Given the description of an element on the screen output the (x, y) to click on. 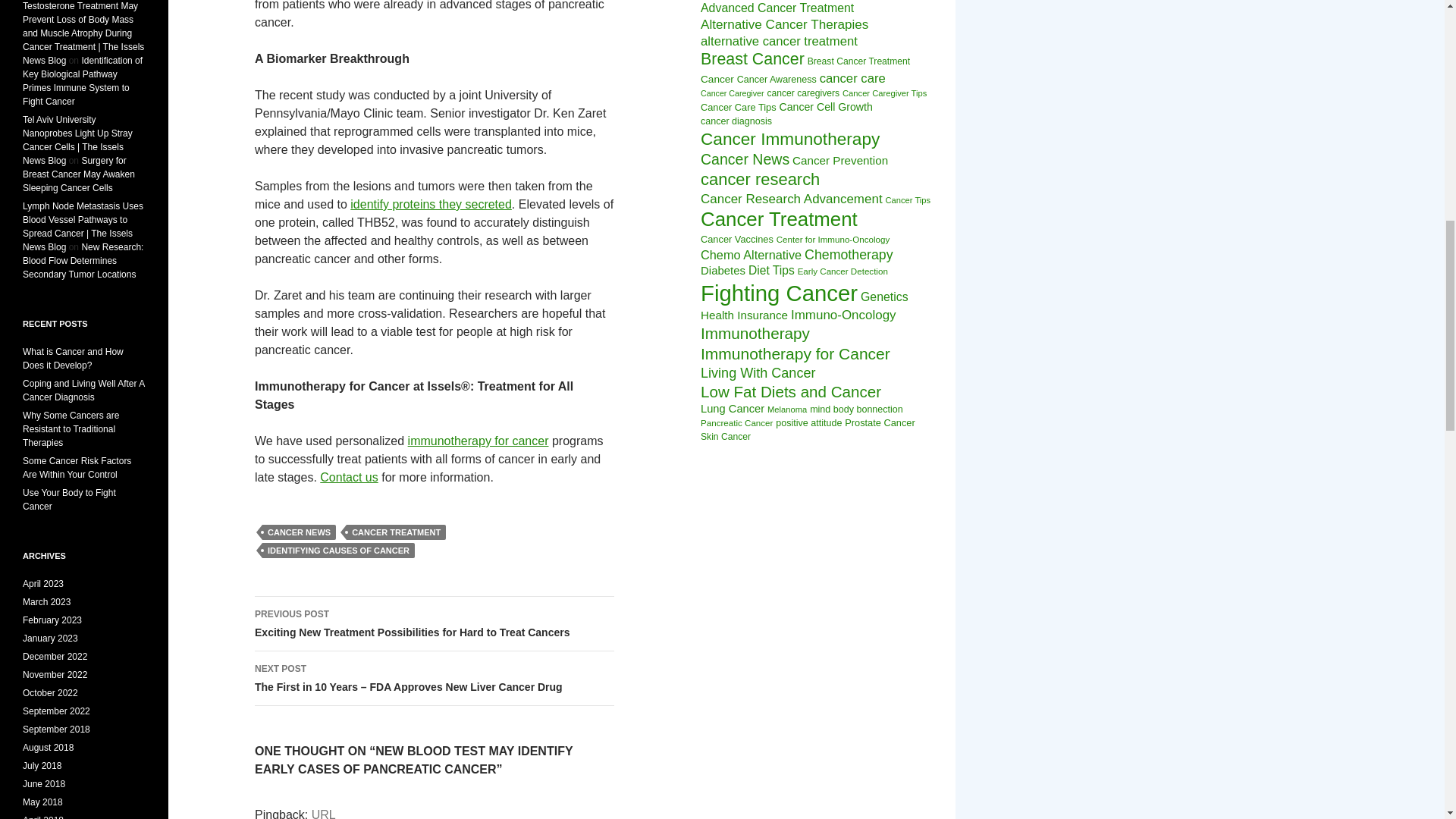
IDENTIFYING CAUSES OF CANCER (338, 549)
immunotherapy for cancer (477, 440)
URL (323, 813)
CANCER NEWS (299, 531)
Contact us (348, 477)
identify proteins they secreted (431, 204)
CANCER TREATMENT (395, 531)
